Given the description of an element on the screen output the (x, y) to click on. 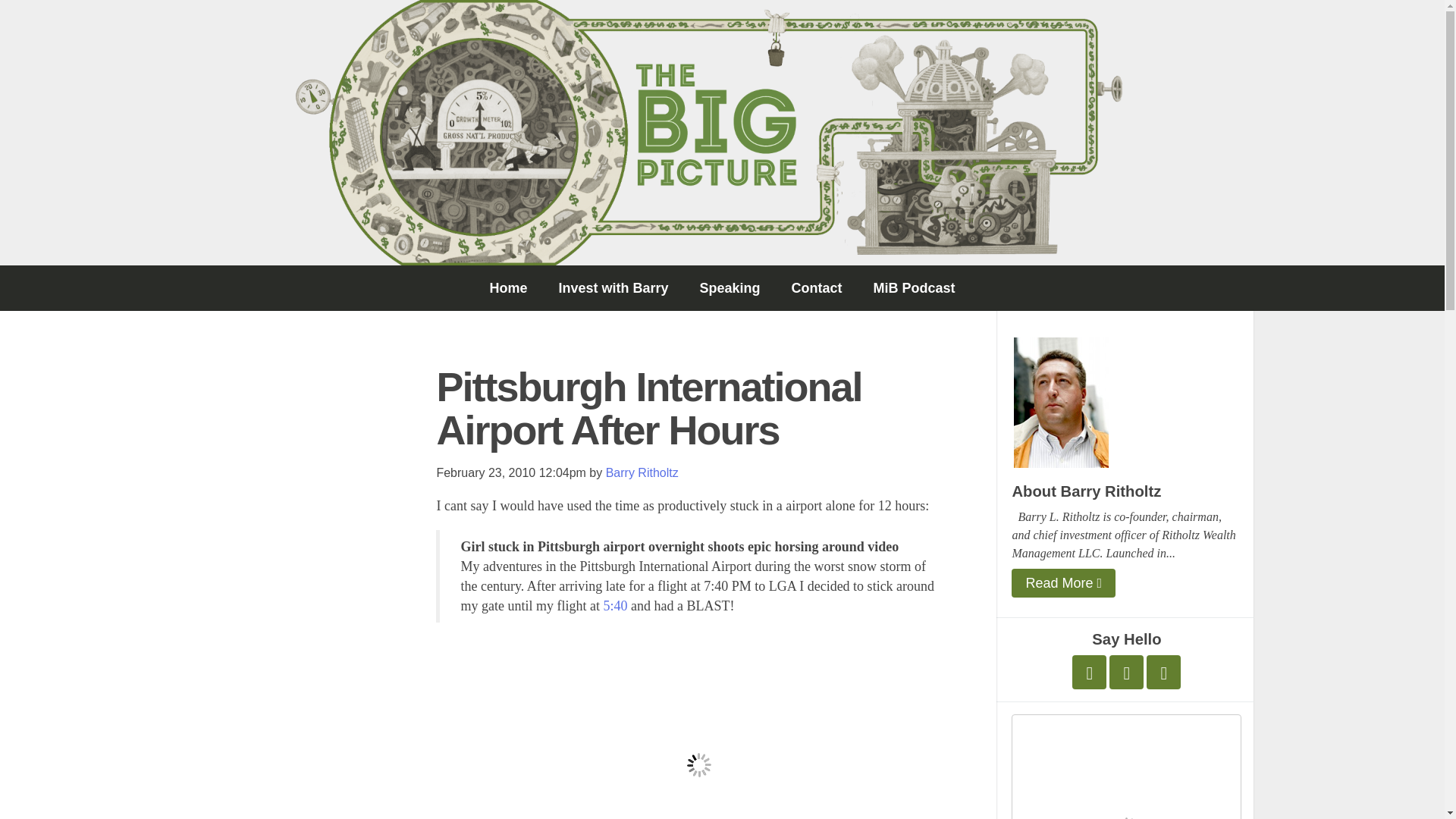
Contact (816, 288)
Read More (1063, 582)
Home (508, 288)
Speaking (729, 288)
Barry Ritholtz (641, 472)
Posts by Barry Ritholtz (641, 472)
LinkedIn (1163, 672)
5:40 (614, 605)
Facebook (1125, 672)
Twitter (1088, 672)
